Given the description of an element on the screen output the (x, y) to click on. 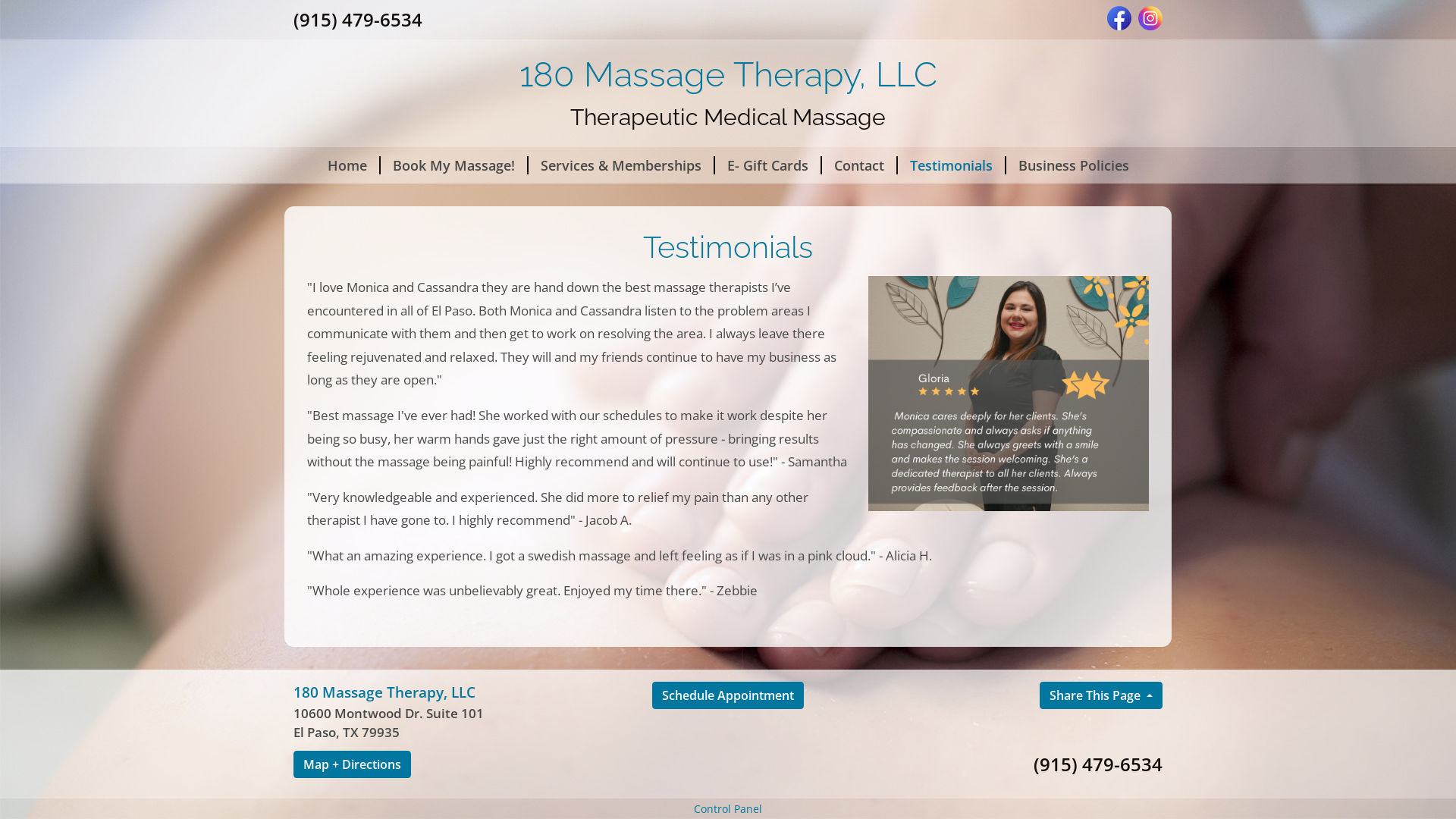
Map + Directions Element type: text (352, 764)
Home Element type: text (347, 165)
Contact Element type: text (859, 165)
Business Policies Element type: text (1072, 165)
Book My Massage! Element type: text (454, 165)
E- Gift Cards Element type: text (767, 165)
Share This Page Element type: text (1100, 695)
Testimonials Element type: text (951, 165)
Services & Memberships Element type: text (620, 165)
Control Panel Element type: text (727, 808)
Schedule Appointment Element type: text (727, 695)
